Given the description of an element on the screen output the (x, y) to click on. 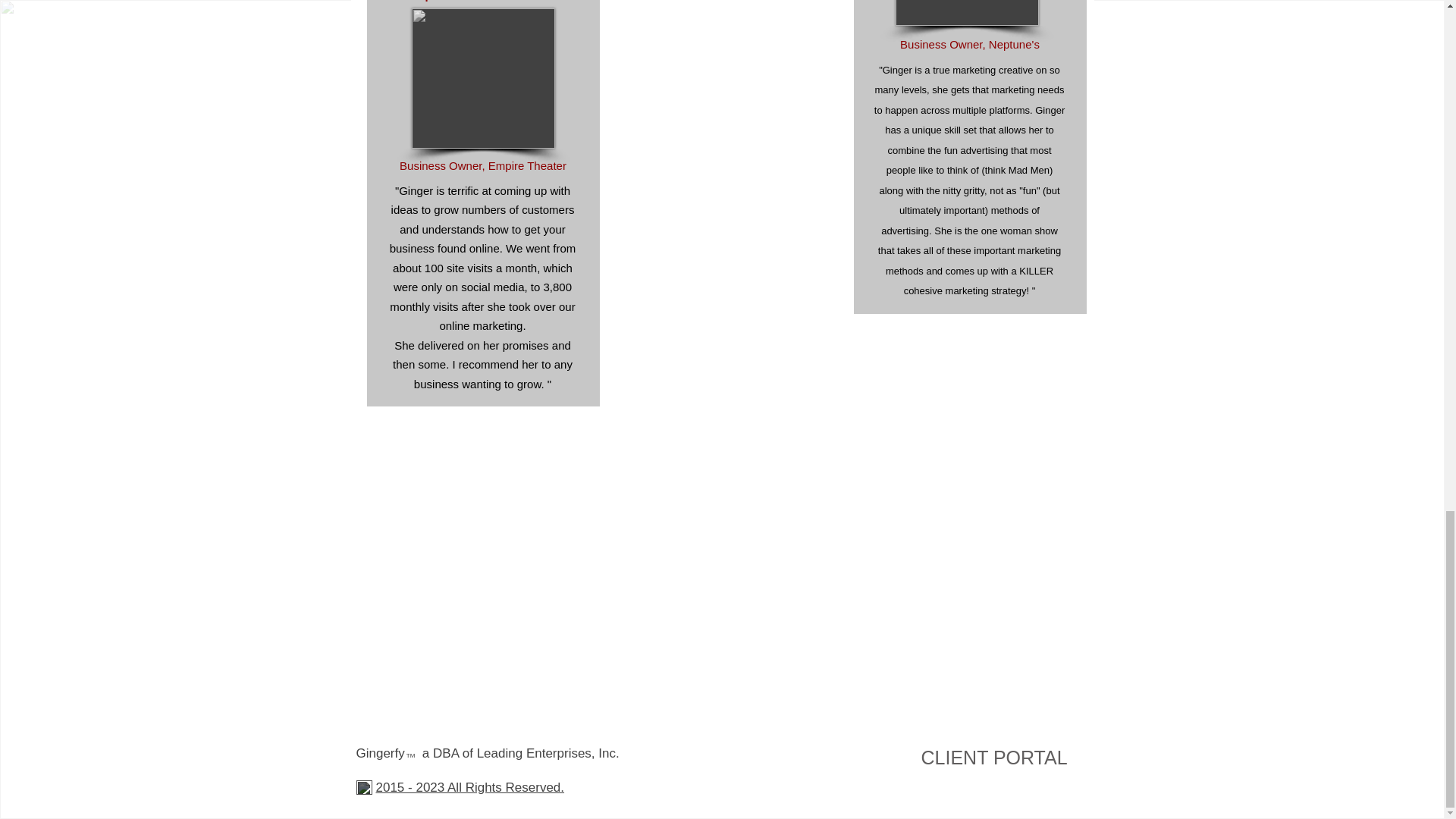
CLIENT PORTAL (993, 757)
2015 - 2023 All Rights Reserved. (469, 787)
